Given the description of an element on the screen output the (x, y) to click on. 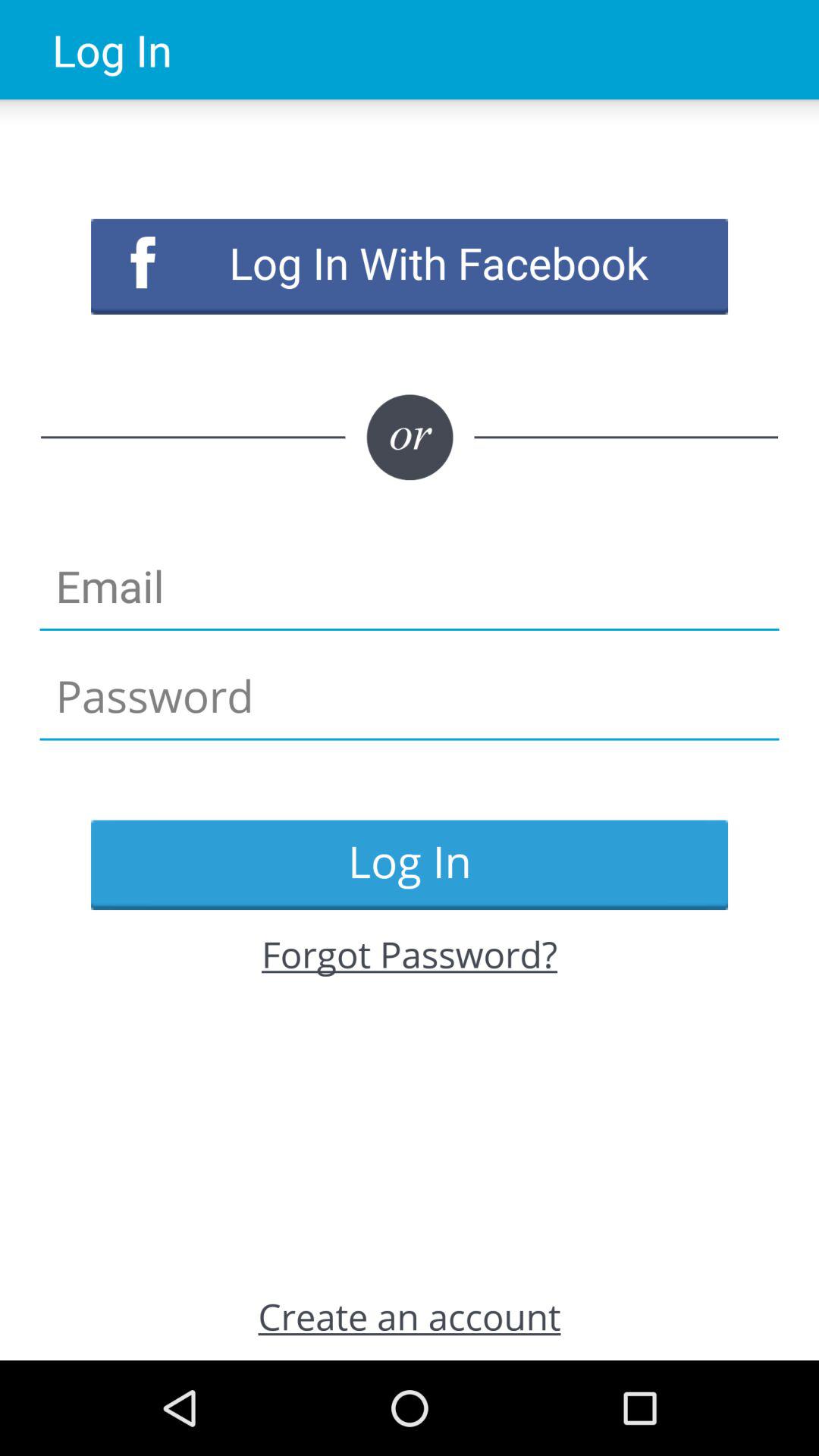
launch the item above the create an account item (409, 953)
